Given the description of an element on the screen output the (x, y) to click on. 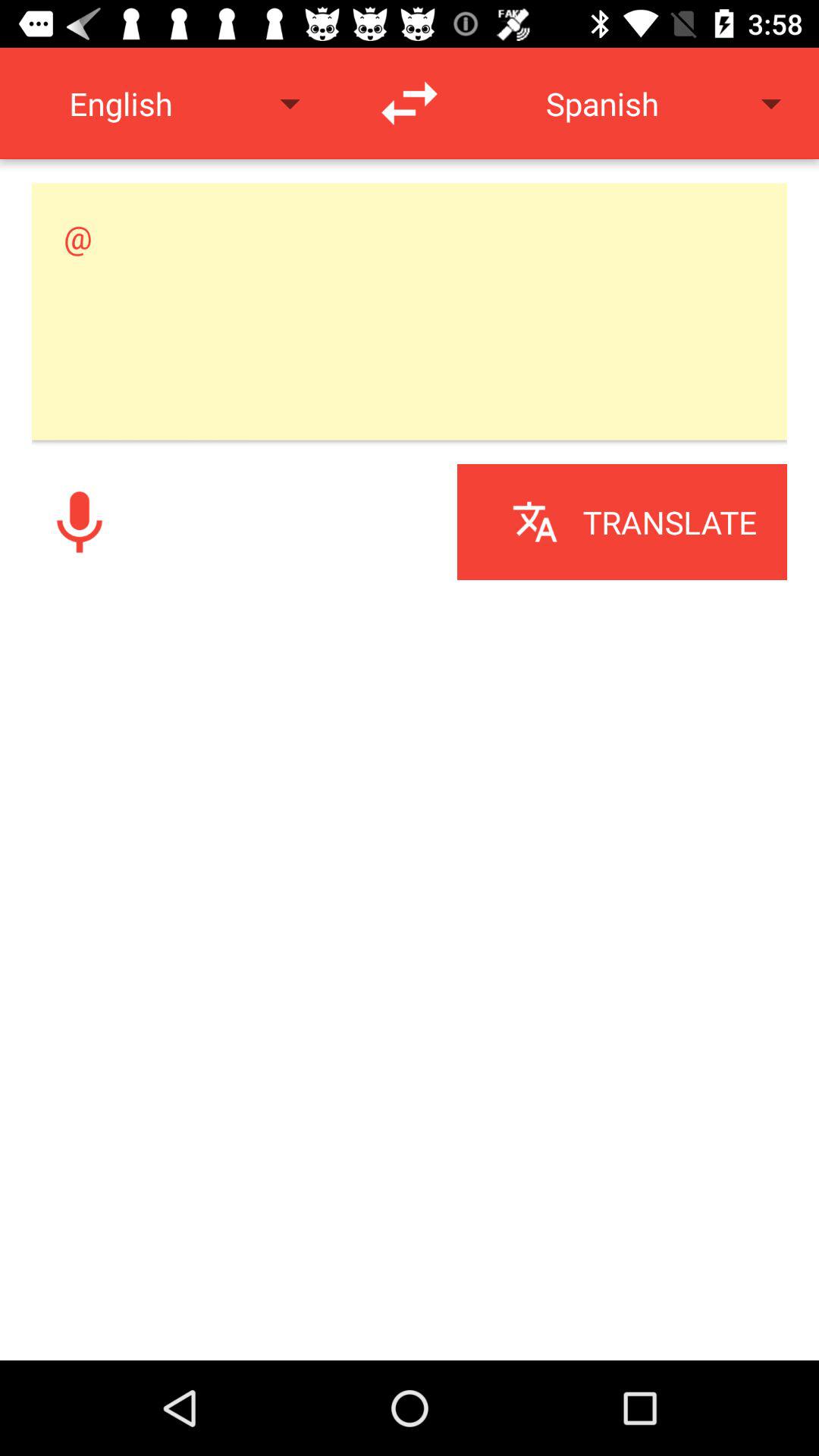
switch languages (409, 103)
